Given the description of an element on the screen output the (x, y) to click on. 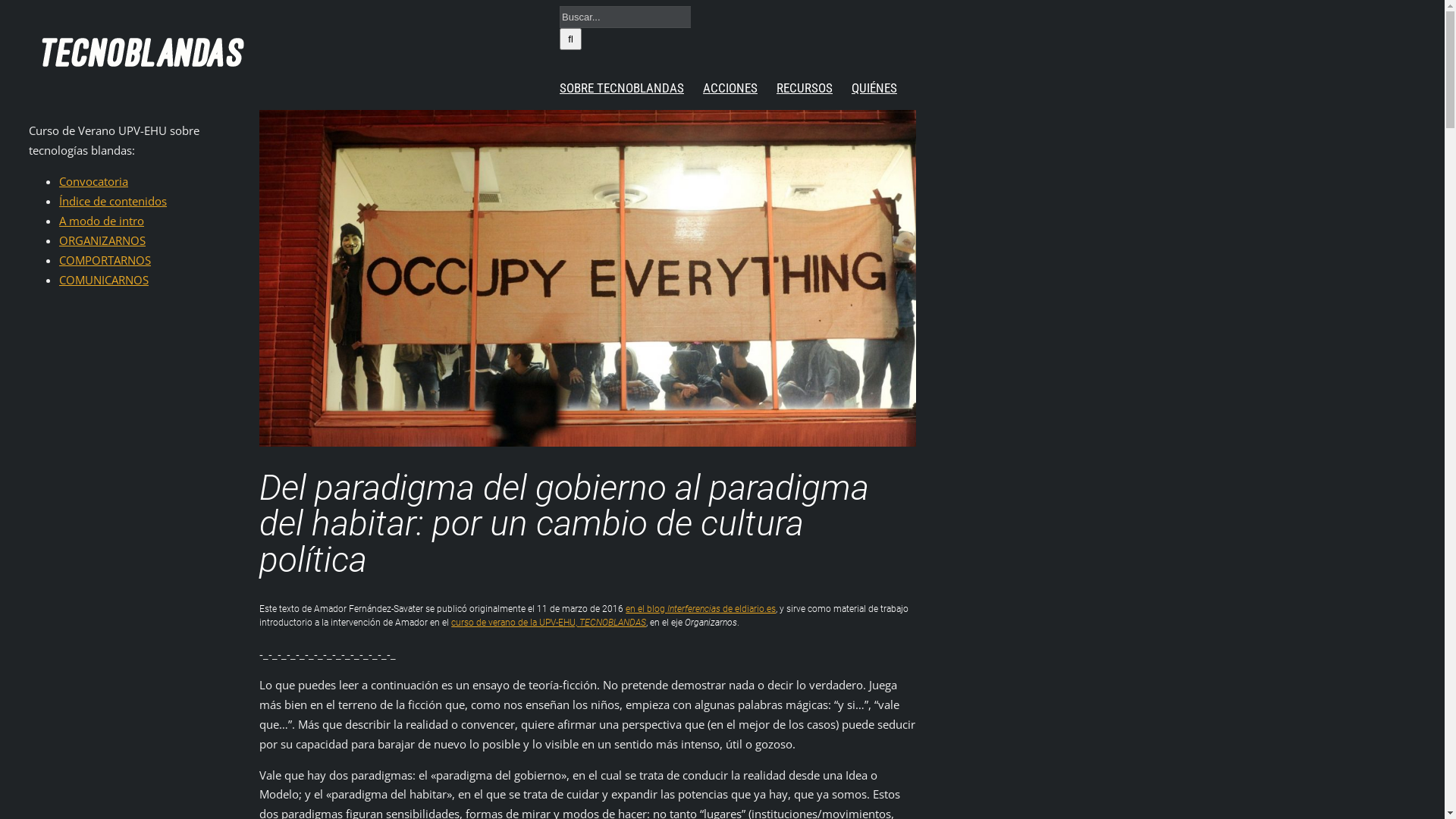
ORGANIZARNOS Element type: text (102, 239)
A modo de intro Element type: text (101, 220)
occupy Element type: hover (587, 277)
en el blog Interferencias de eldiario.es Element type: text (700, 608)
SOBRE TECNOBLANDAS Element type: text (621, 87)
RECURSOS Element type: text (804, 87)
ACCIONES Element type: text (729, 87)
COMUNICARNOS Element type: text (103, 279)
COMPORTARNOS Element type: text (104, 259)
curso de verano de la UPV-EHU, TECNOBLANDAS Element type: text (548, 622)
Saltar al contenido Element type: text (5, 5)
Convocatoria Element type: text (93, 180)
